Given the description of an element on the screen output the (x, y) to click on. 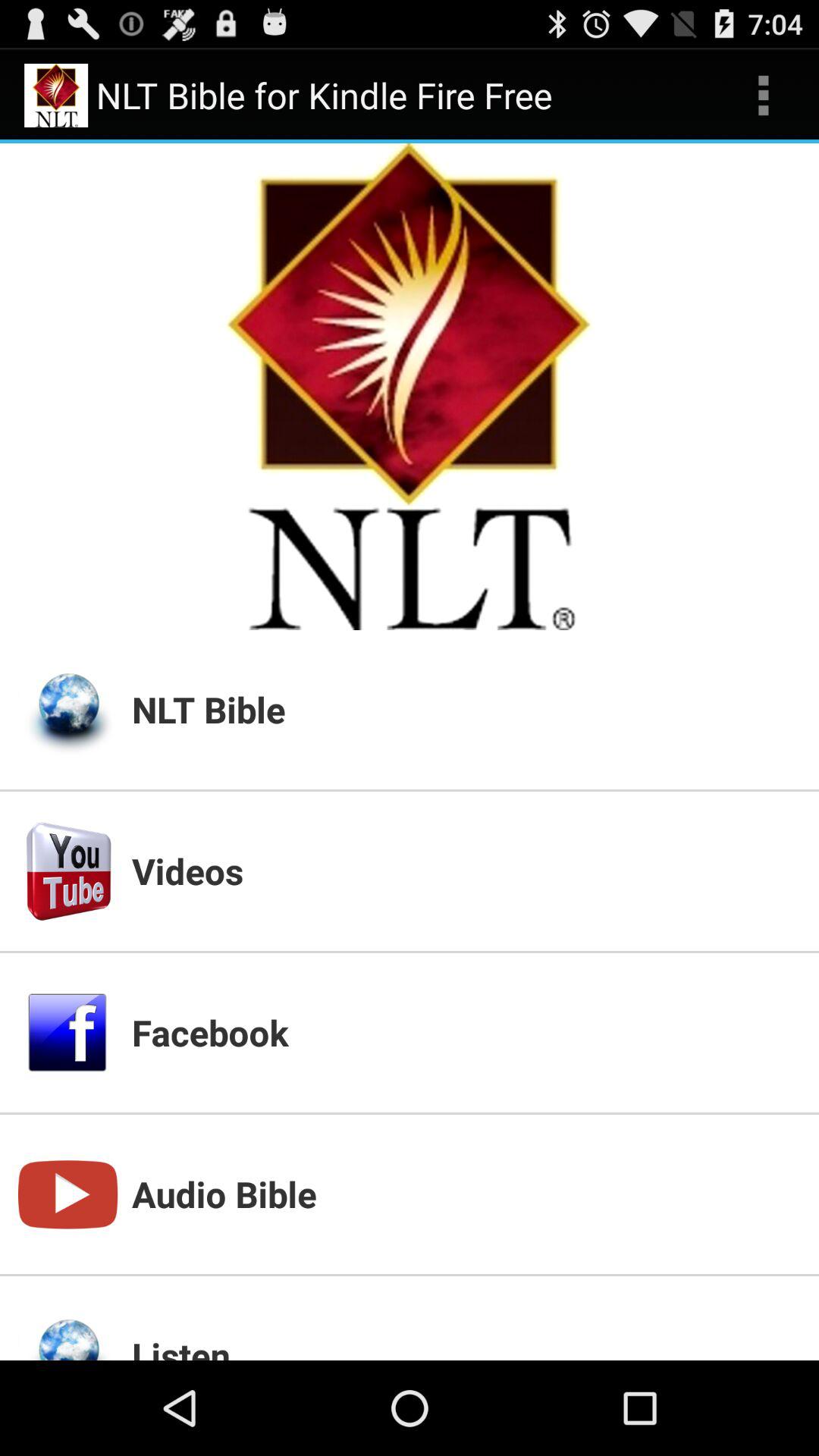
launch the app below audio bible icon (465, 1345)
